Given the description of an element on the screen output the (x, y) to click on. 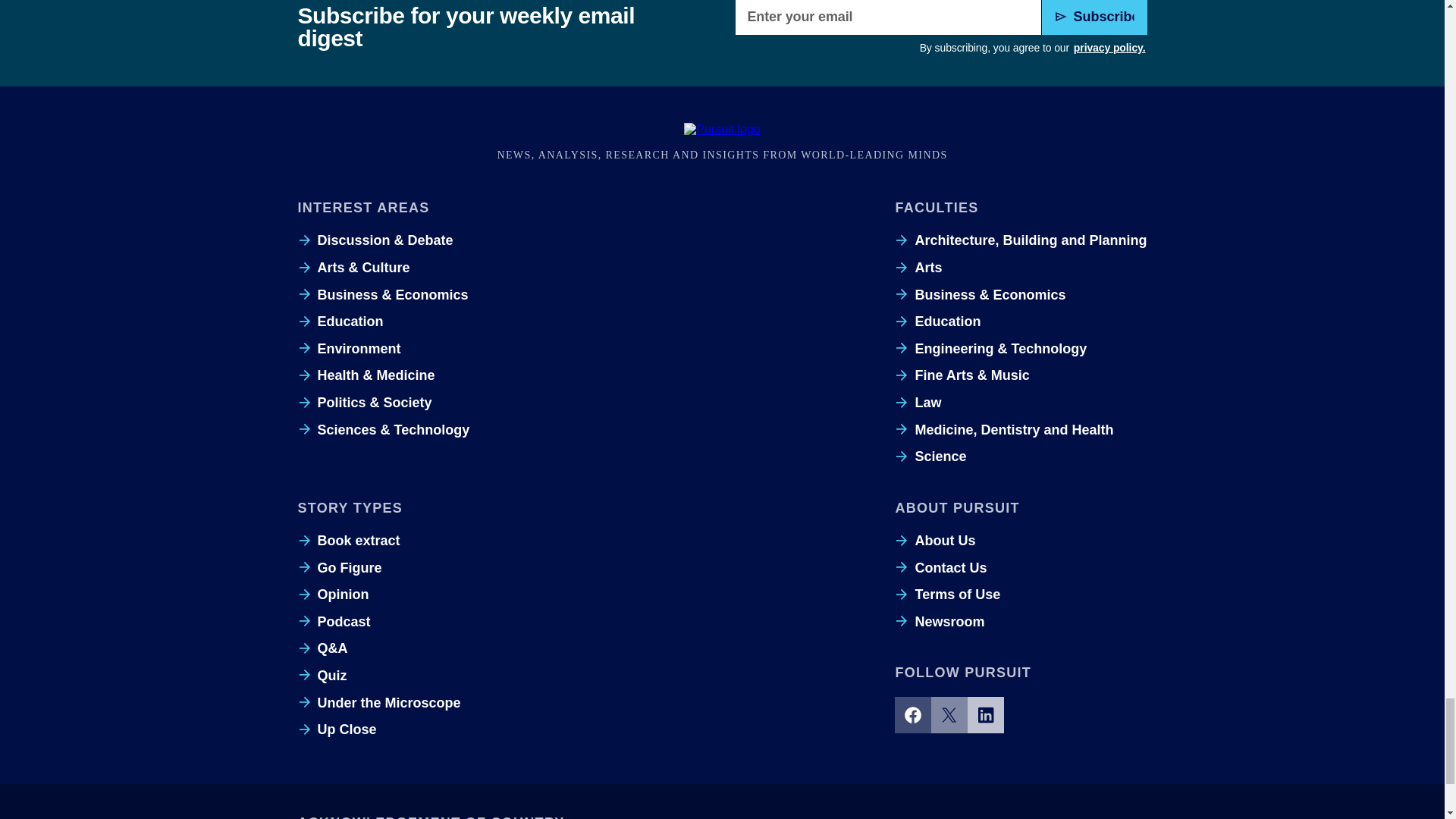
facebook (913, 714)
linkedin (986, 714)
x (949, 714)
